Given the description of an element on the screen output the (x, y) to click on. 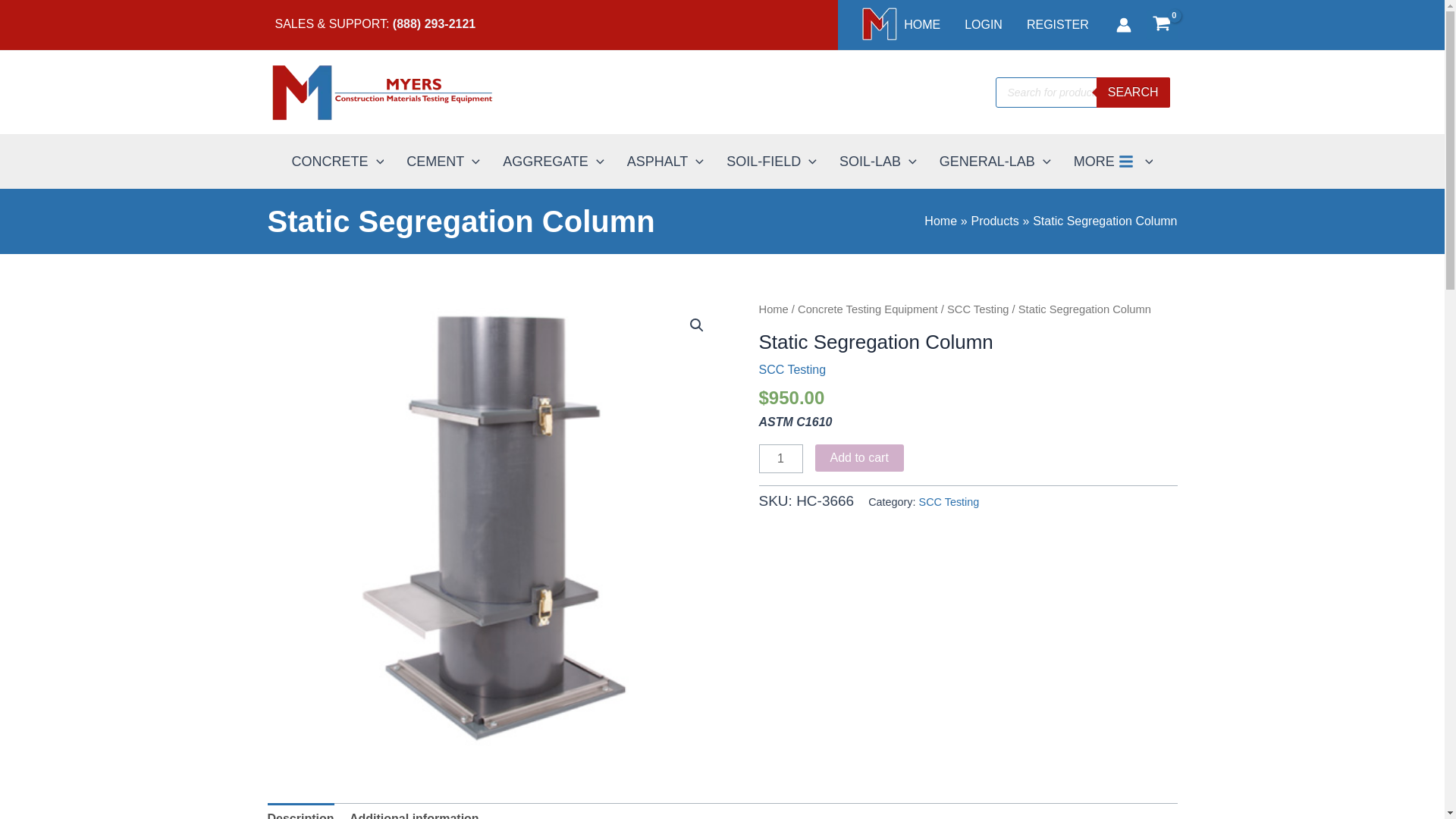
SEARCH (1133, 91)
LOGIN (983, 24)
HOME (898, 24)
CONCRETE (338, 161)
1 (780, 458)
CEMENT (443, 161)
REGISTER (1057, 24)
